Given the description of an element on the screen output the (x, y) to click on. 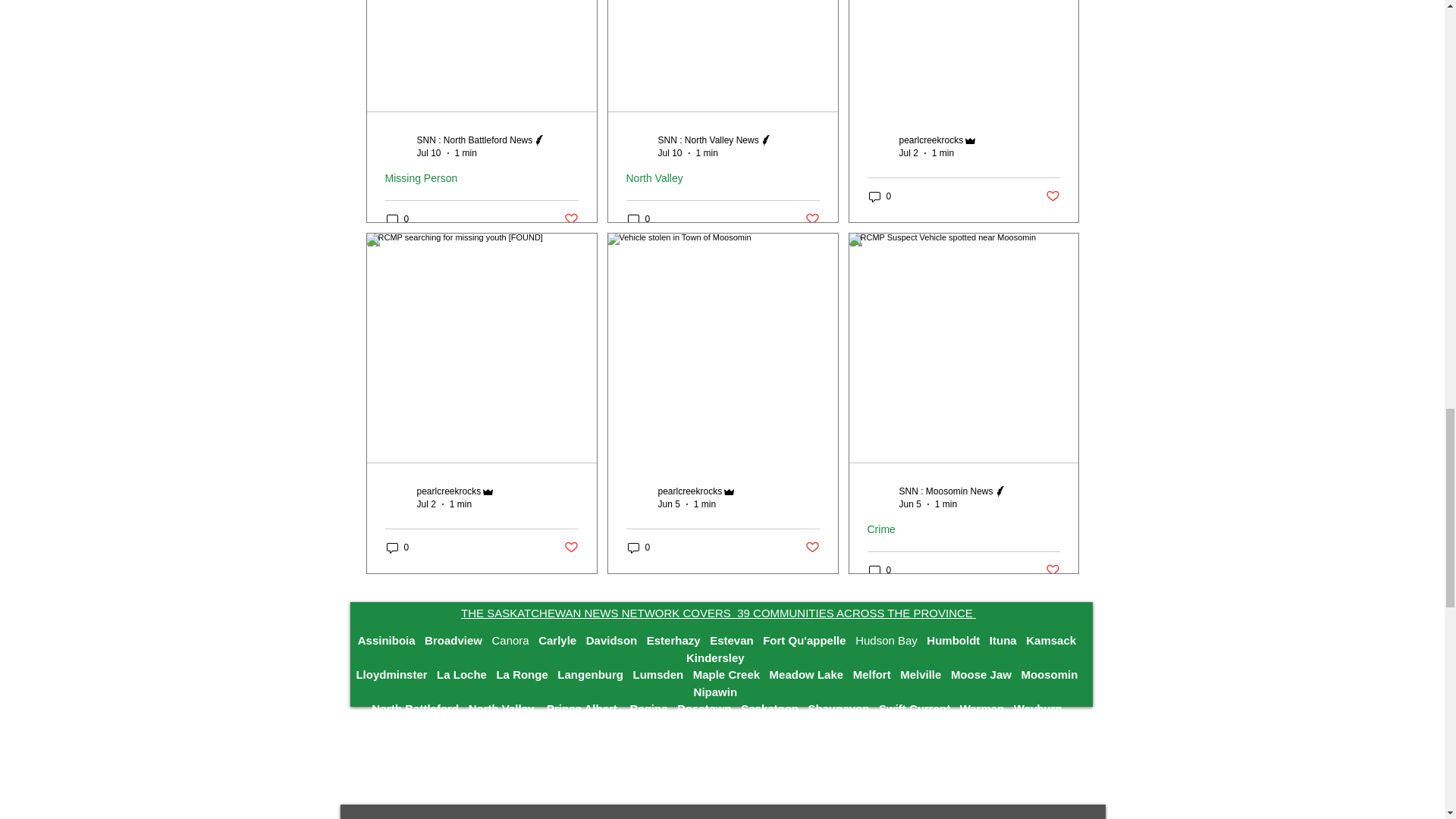
1 min (460, 503)
Jul 10 (428, 153)
pearlcreekrocks (690, 491)
Jul 2 (908, 153)
1 min (465, 153)
Jun 5 (668, 503)
Jul 2 (425, 503)
pearlcreekrocks (931, 140)
1 min (706, 153)
Jun 5 (910, 503)
SNN : North Valley News (708, 140)
Jul 10 (670, 153)
1 min (945, 503)
SNN : North Battleford News (474, 140)
SNN : Moosomin News (945, 491)
